Given the description of an element on the screen output the (x, y) to click on. 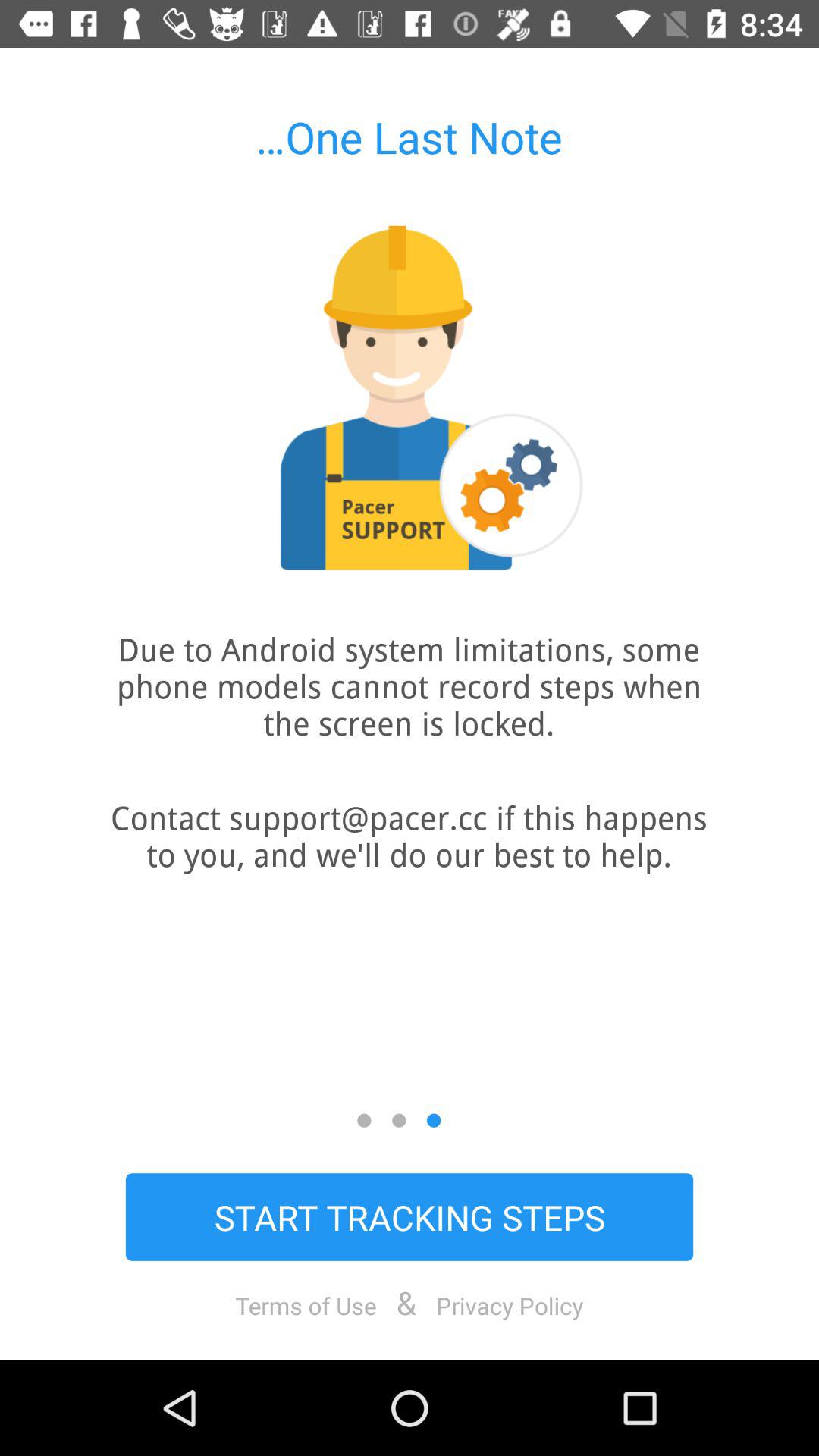
turn off icon to the right of the & icon (509, 1305)
